Given the description of an element on the screen output the (x, y) to click on. 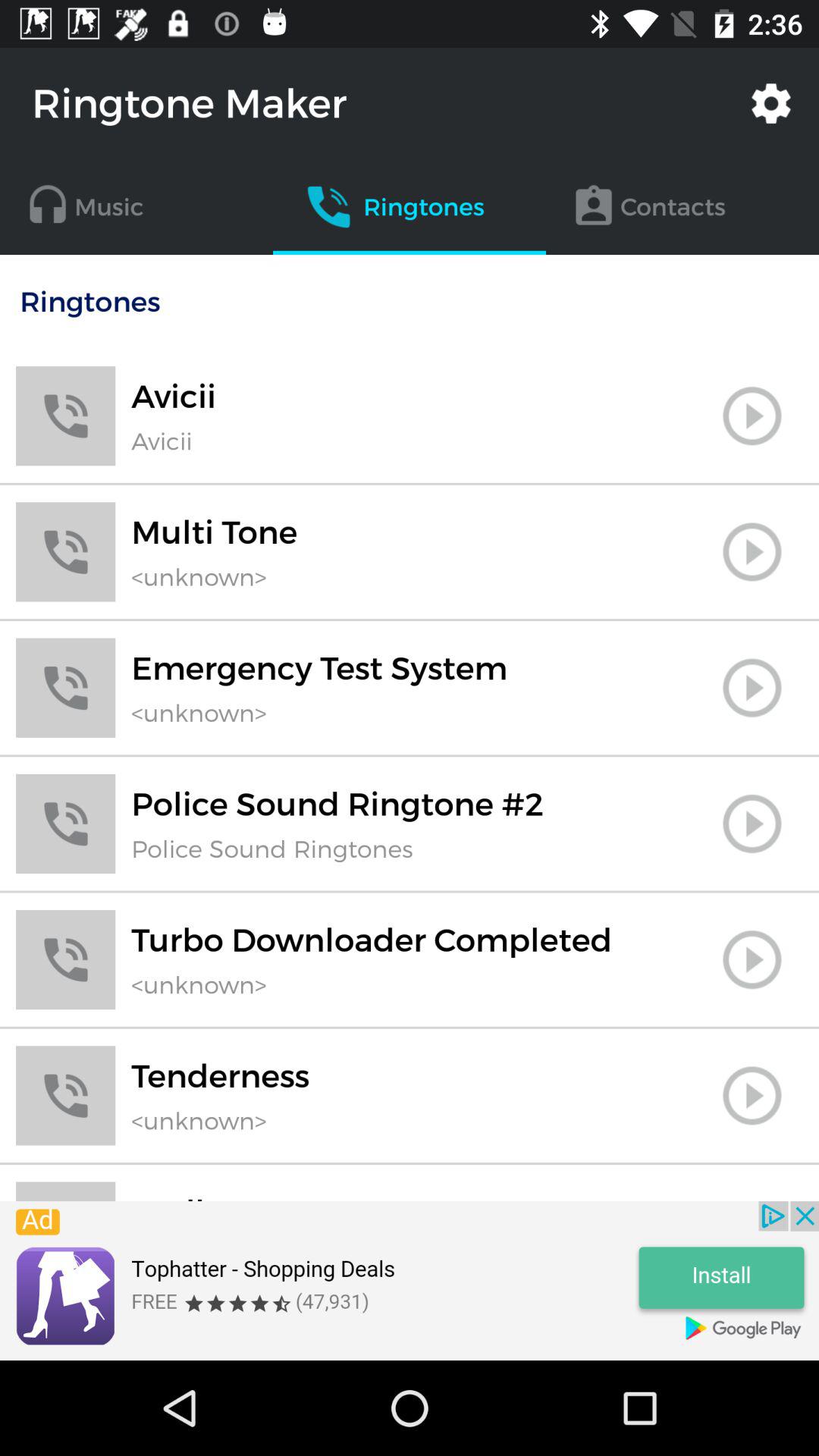
play emergency test system ringtone (752, 687)
